Given the description of an element on the screen output the (x, y) to click on. 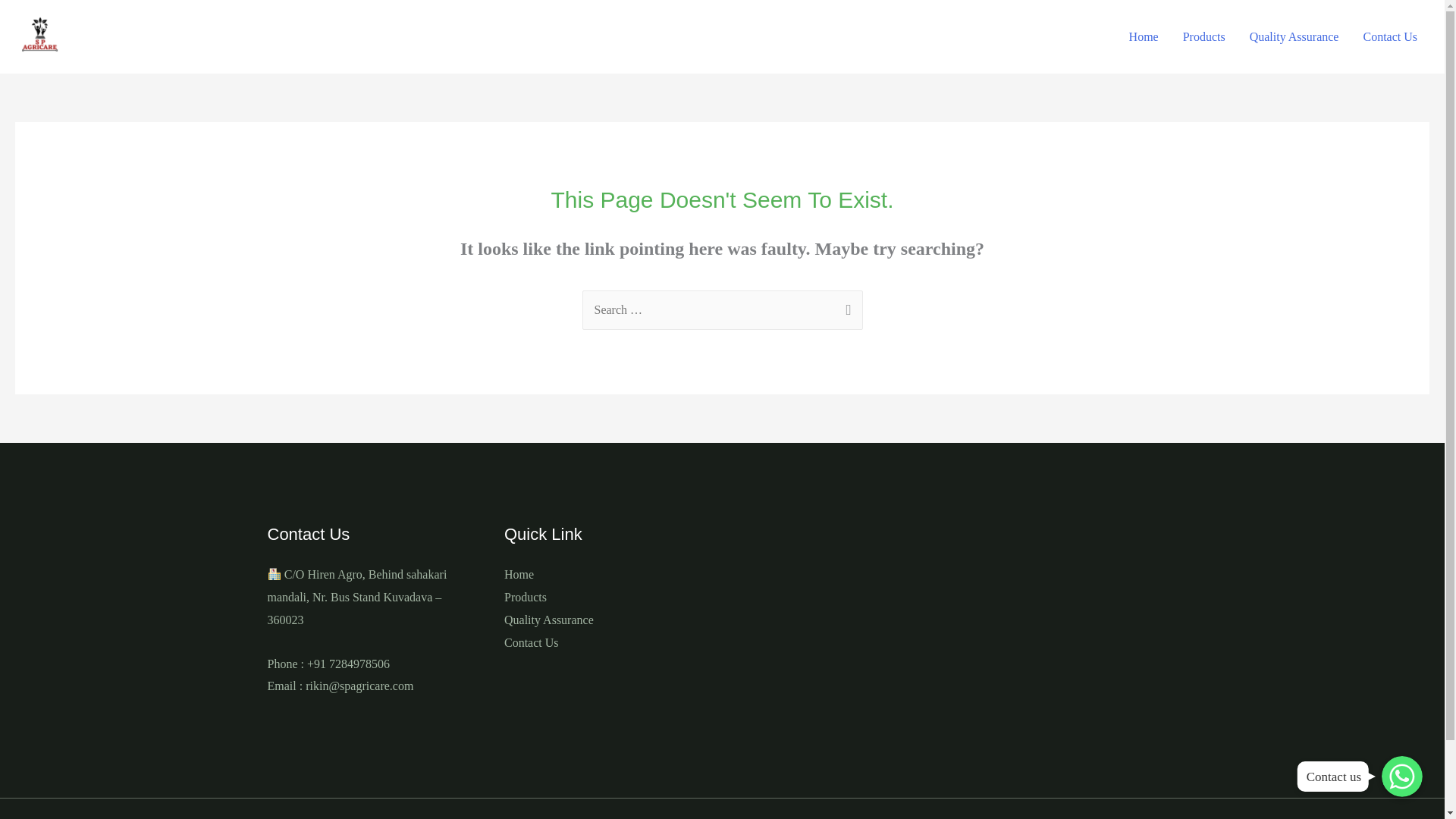
Home (1143, 36)
Contact Us (531, 642)
Home (518, 574)
Quality Assurance (548, 619)
Products (1203, 36)
Contact Us (1390, 36)
Quality Assurance (1294, 36)
WhatsApp (1401, 775)
Products (525, 596)
